Given the description of an element on the screen output the (x, y) to click on. 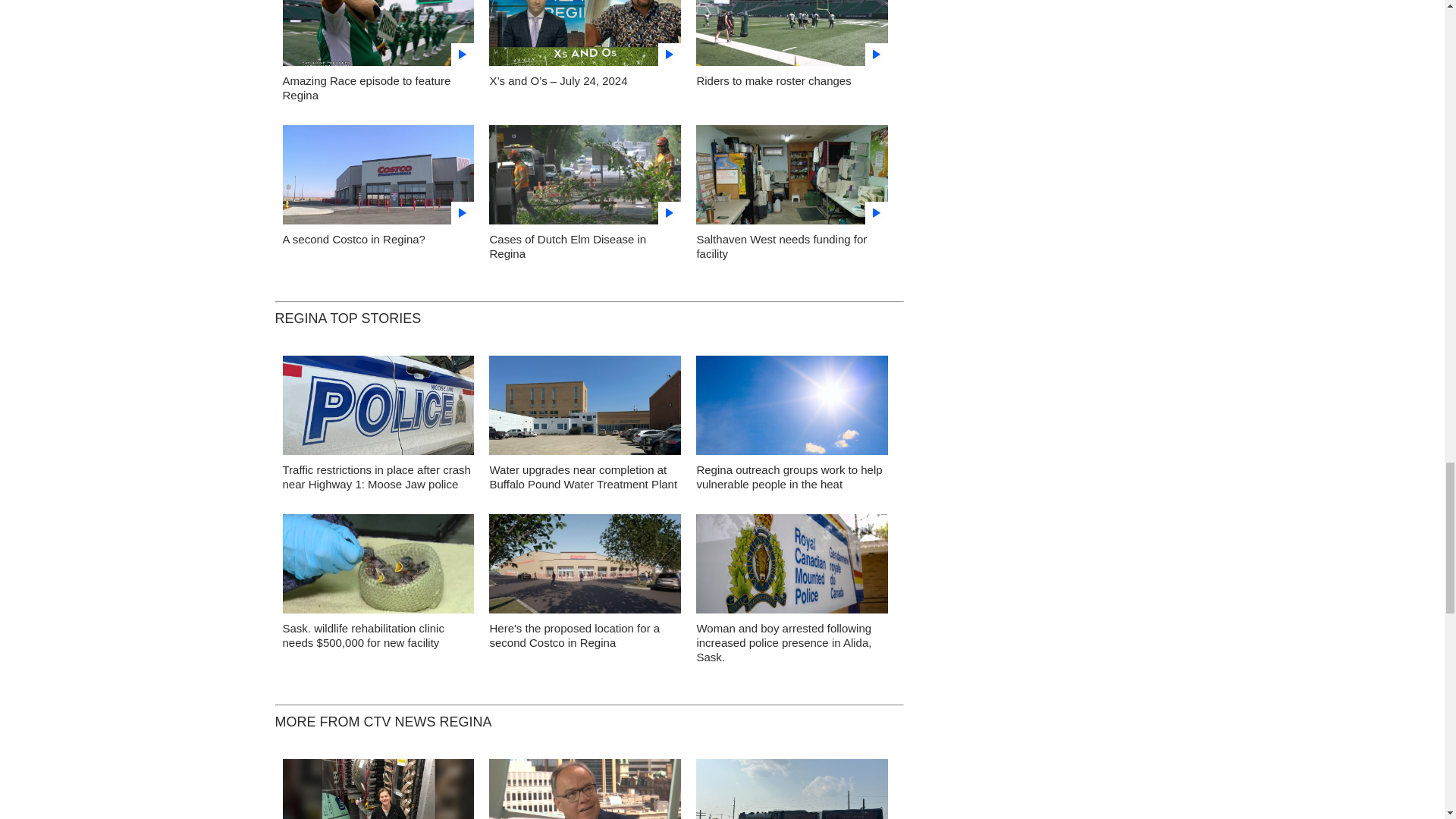
salthaven (378, 567)
false (791, 174)
Salthaven West needs funding for facility (791, 178)
A second Costco in Regina? (353, 238)
Riders to make roster changes (791, 37)
false (585, 174)
false (378, 174)
Moose Jaw Police Service (378, 409)
false (585, 33)
Amazing Race episode to feature Regina (378, 37)
Riders to make roster changes (772, 80)
A second Costco in Regina? (378, 178)
Amazing Race episode to feature Regina (365, 87)
Sunshine (791, 409)
